Given the description of an element on the screen output the (x, y) to click on. 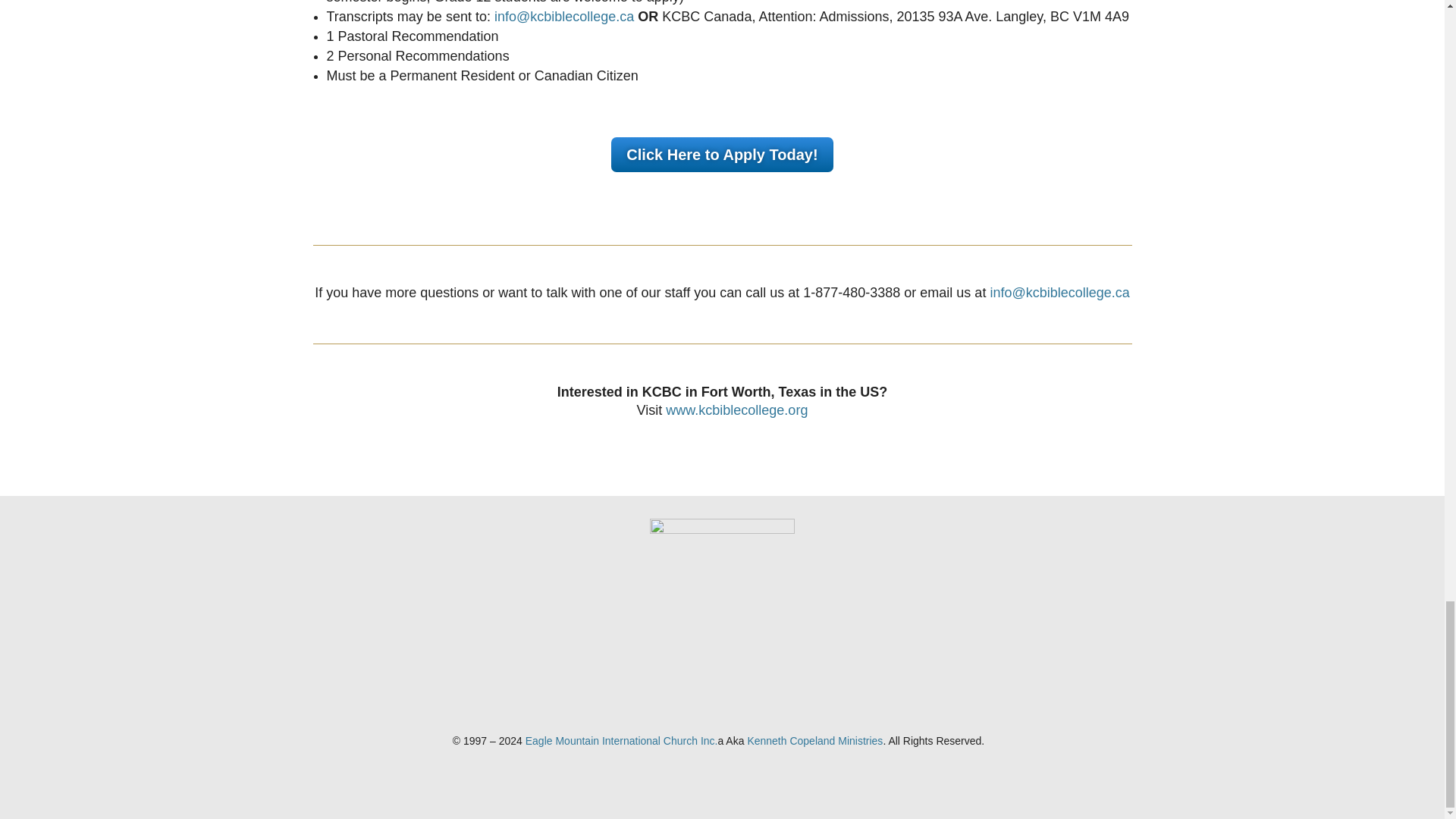
Eagle Mountain International Church Inc. (621, 740)
Kenneth Copeland Ministries (814, 740)
Click Here to Apply Today! (721, 154)
www.kcbiblecollege.org (736, 409)
